Given the description of an element on the screen output the (x, y) to click on. 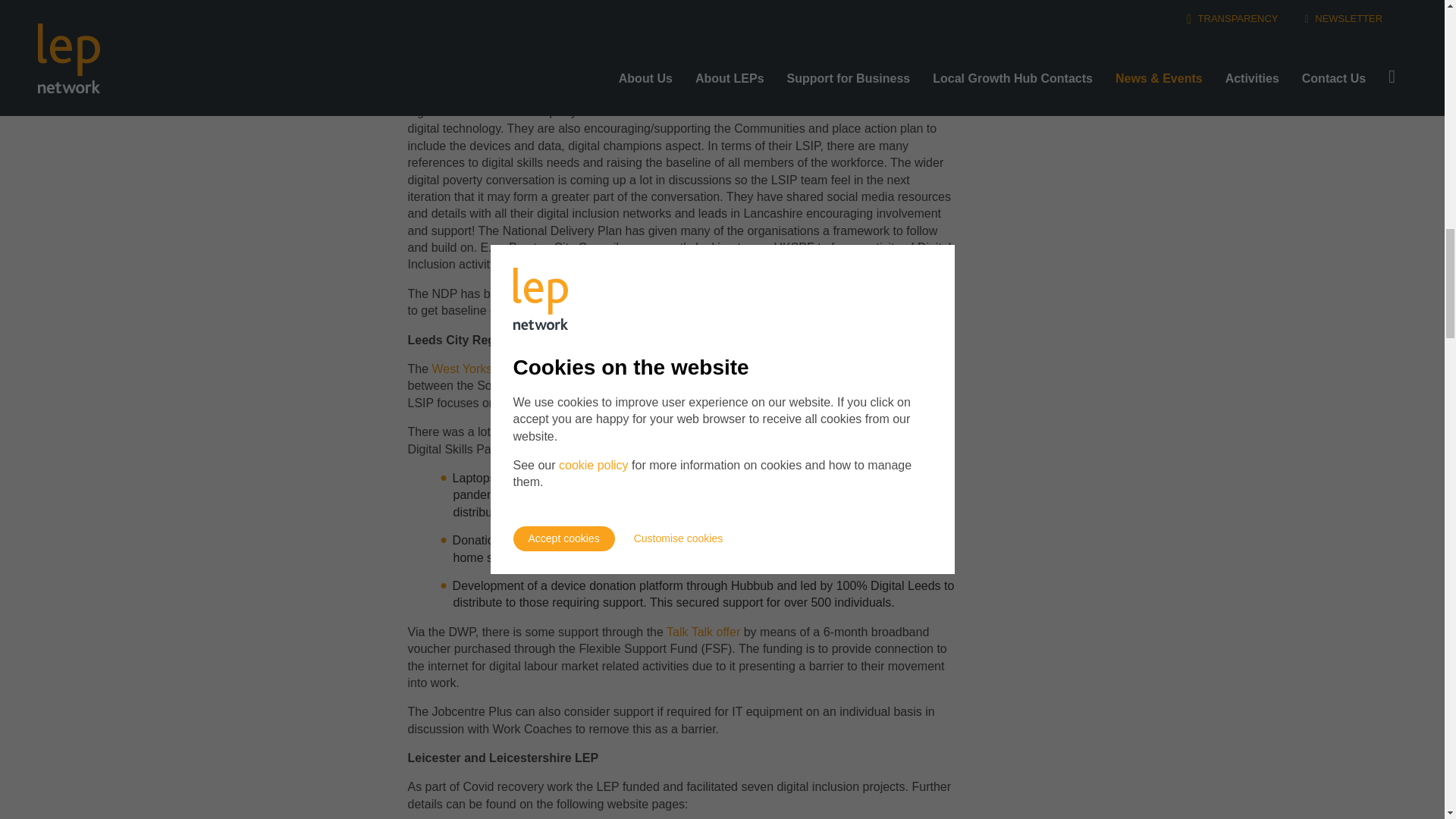
Lancashire 2050 (476, 94)
